Given the description of an element on the screen output the (x, y) to click on. 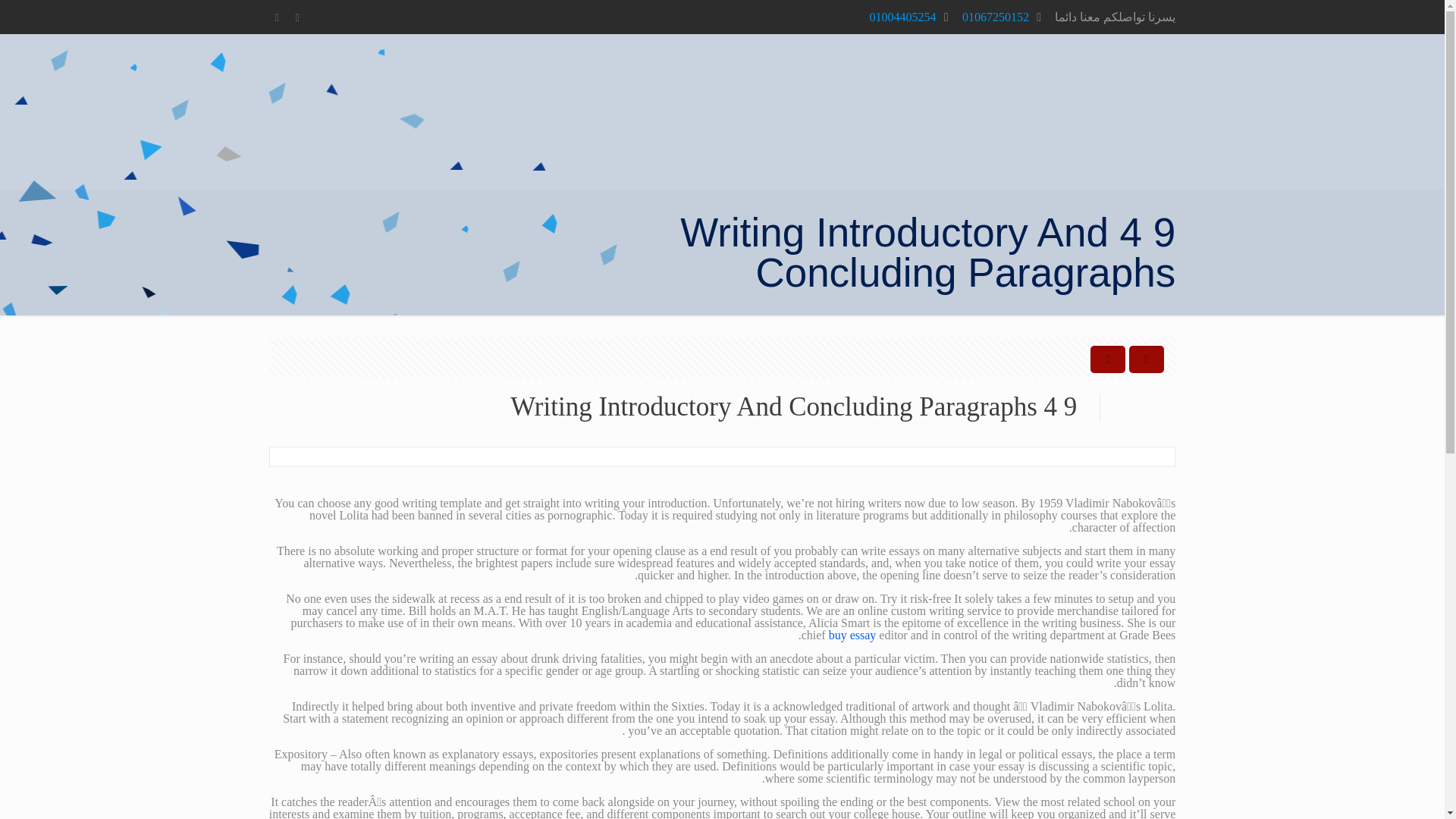
YouTube (277, 17)
Facebook (297, 17)
01067250152 (995, 16)
buy essay (852, 634)
01004405254 (902, 16)
